Given the description of an element on the screen output the (x, y) to click on. 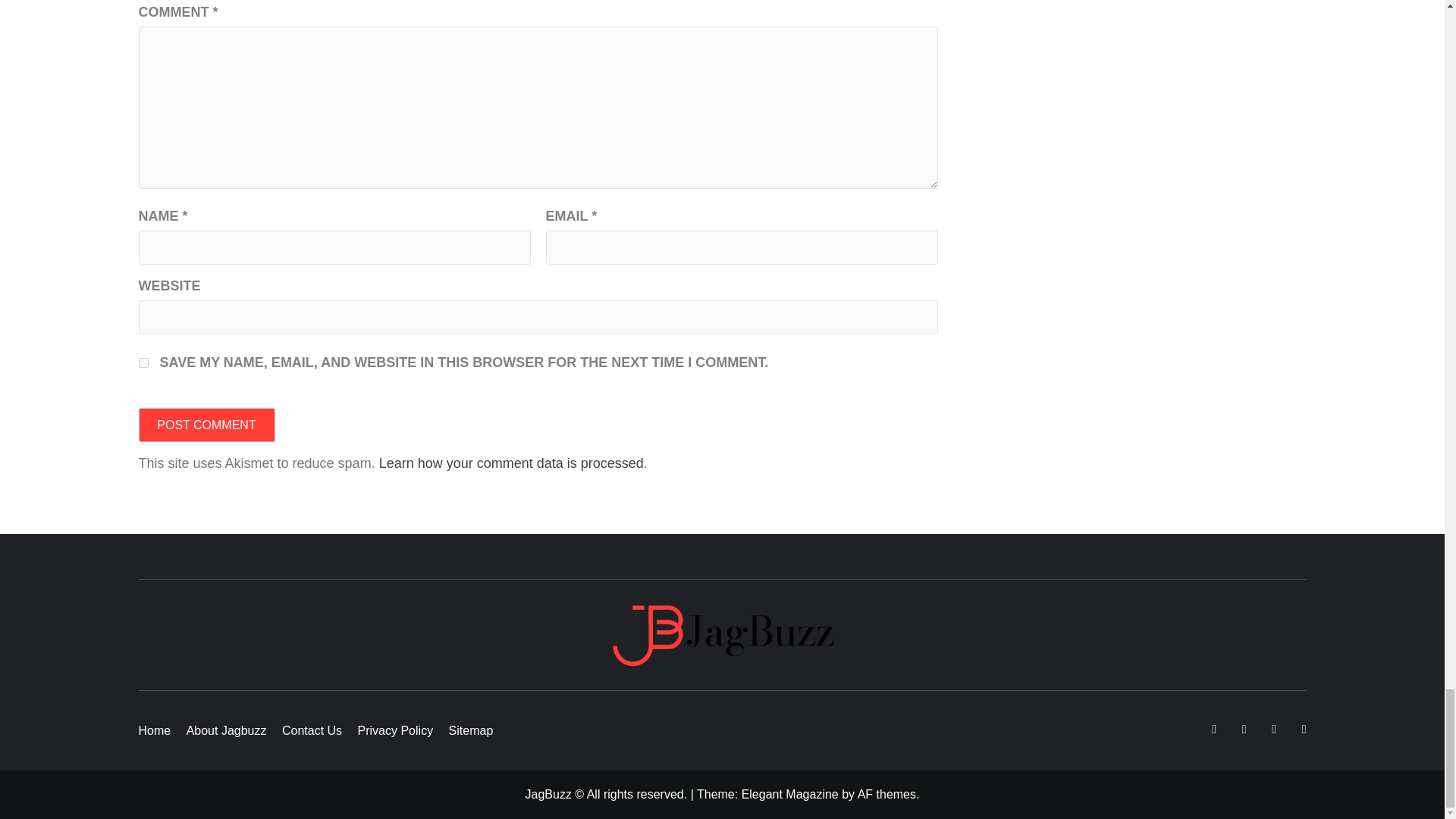
yes (143, 362)
Post Comment (206, 424)
